Given the description of an element on the screen output the (x, y) to click on. 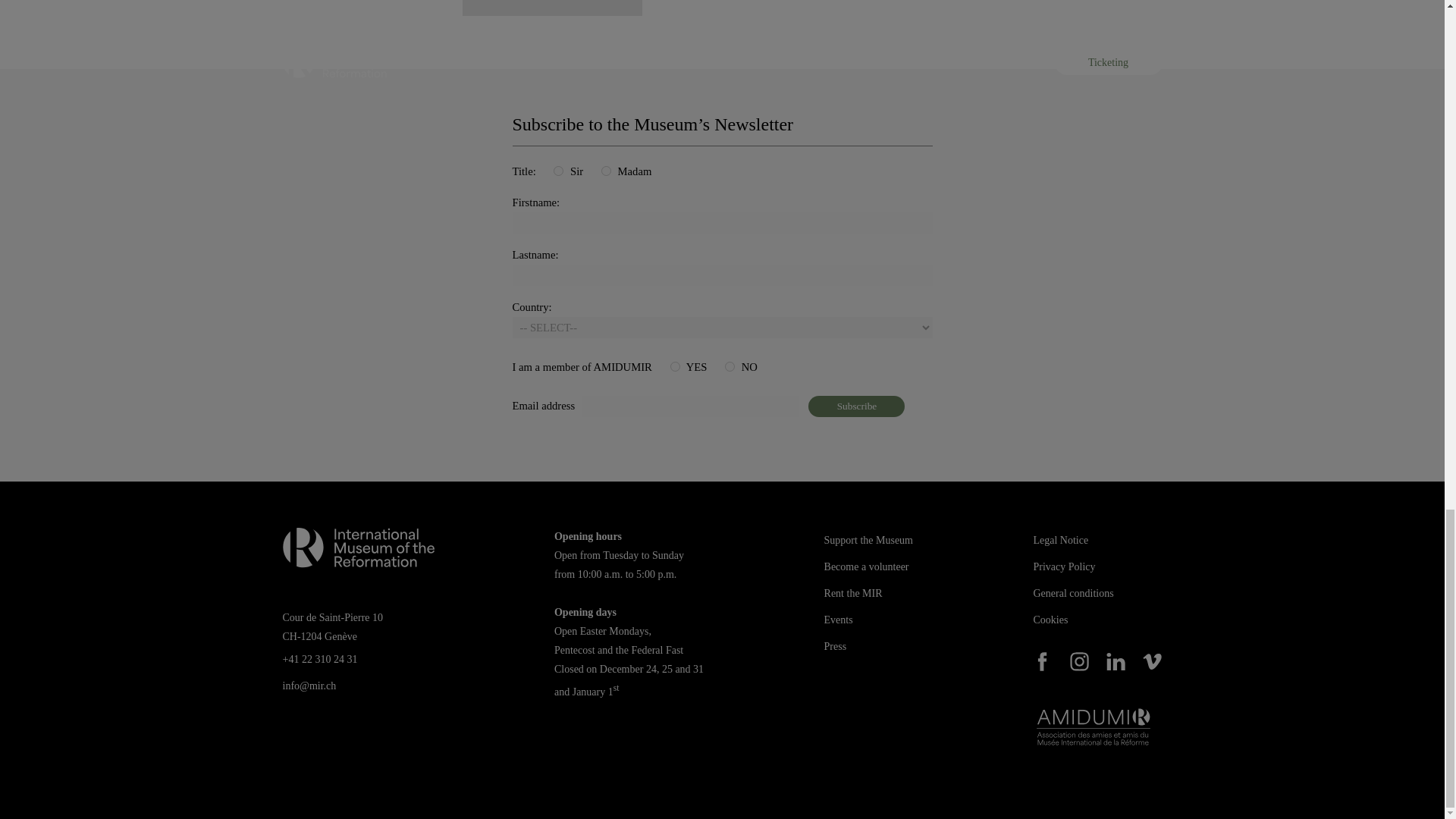
NON (730, 366)
Find us on Vimeo (1151, 660)
Madame (606, 171)
Monsieur (558, 171)
Subscribe (856, 405)
Find us on Facebook (1041, 660)
Find us on Linkedin (1115, 660)
Find us on Instagram (1079, 660)
OUI (674, 366)
Support the Museum (868, 540)
Become a volunteer (866, 566)
Subscribe (856, 405)
